Given the description of an element on the screen output the (x, y) to click on. 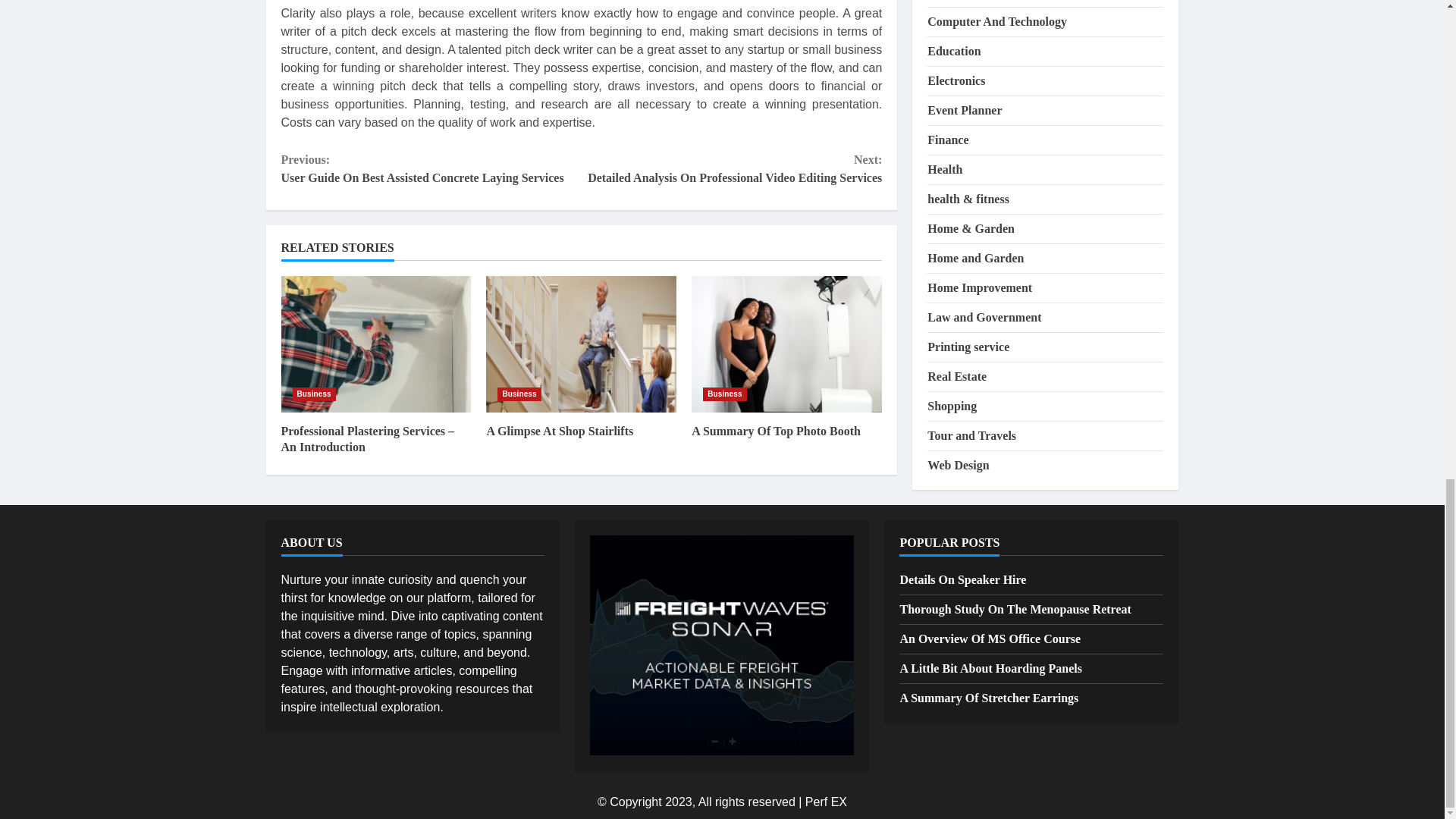
Business (518, 394)
Business (314, 394)
Business (724, 394)
A Summary Of Top Photo Booth (775, 431)
A Summary Of Top Photo Booth (786, 344)
A Glimpse At Shop Stairlifts (559, 431)
A Glimpse At Shop Stairlifts (581, 344)
